Given the description of an element on the screen output the (x, y) to click on. 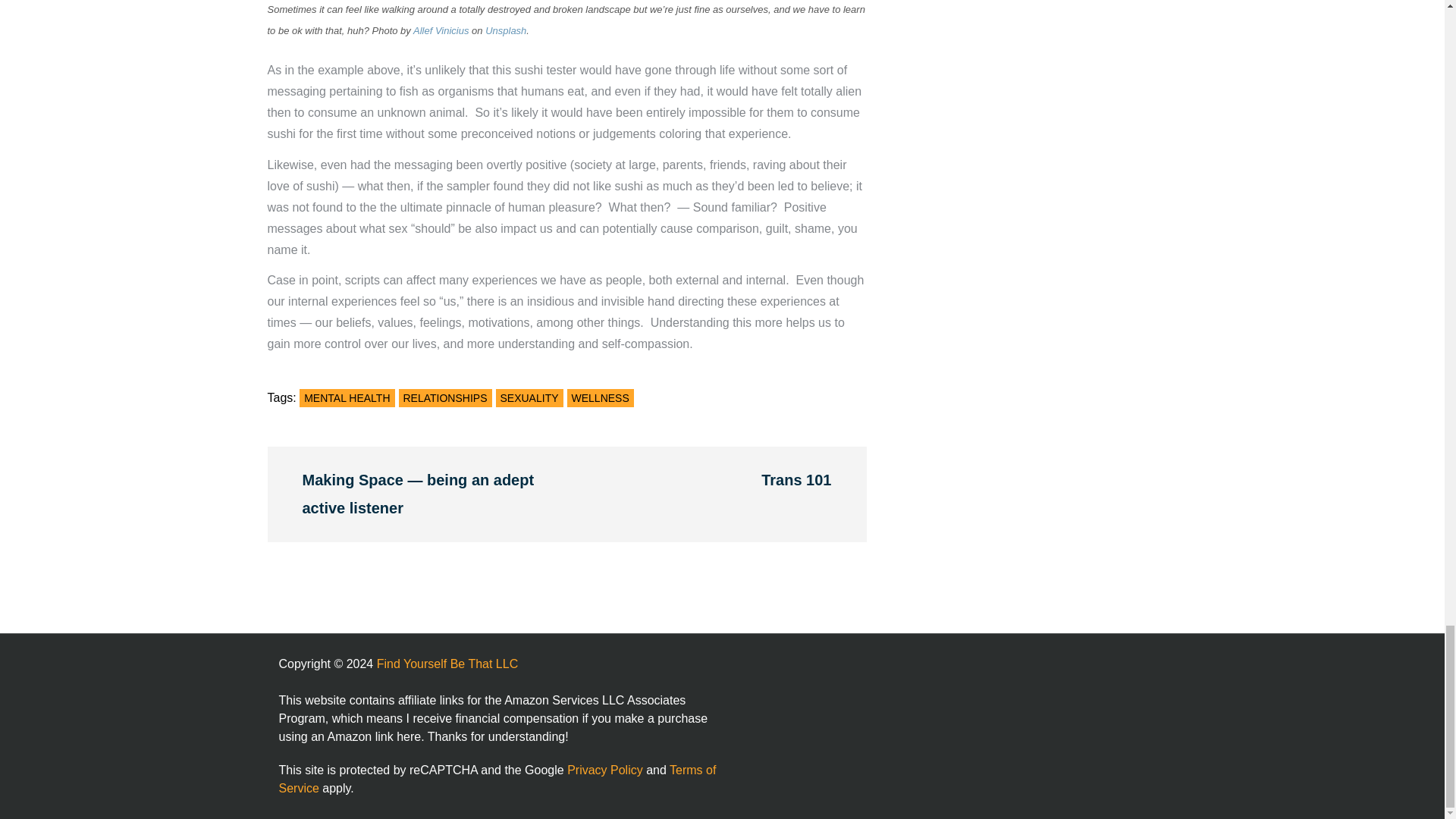
WELLNESS (600, 398)
RELATIONSHIPS (445, 398)
Unsplash (504, 30)
MENTAL HEALTH (346, 398)
Allef Vinicius (440, 30)
SEXUALITY (529, 398)
